Given the description of an element on the screen output the (x, y) to click on. 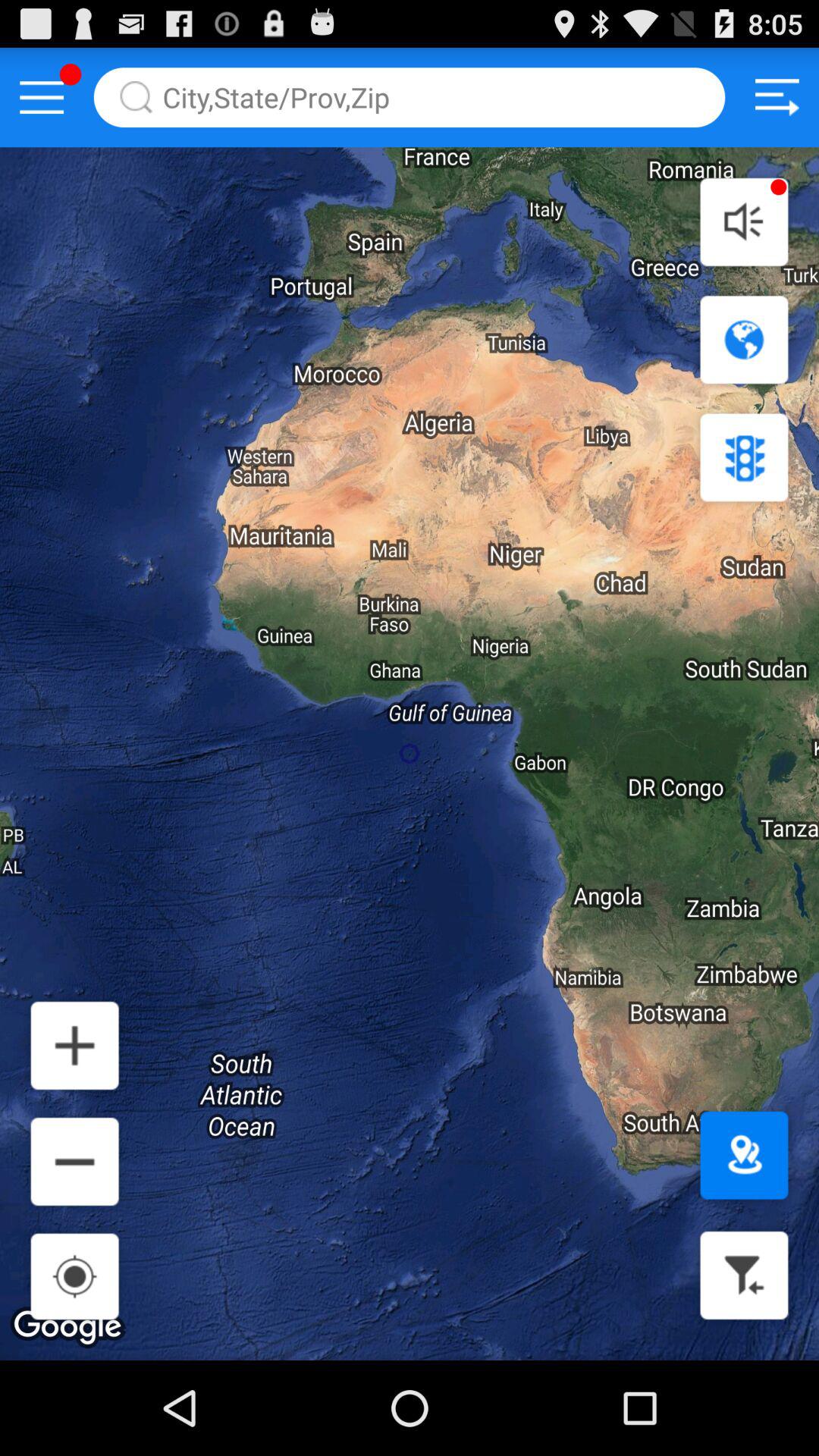
access menu (41, 97)
